Given the description of an element on the screen output the (x, y) to click on. 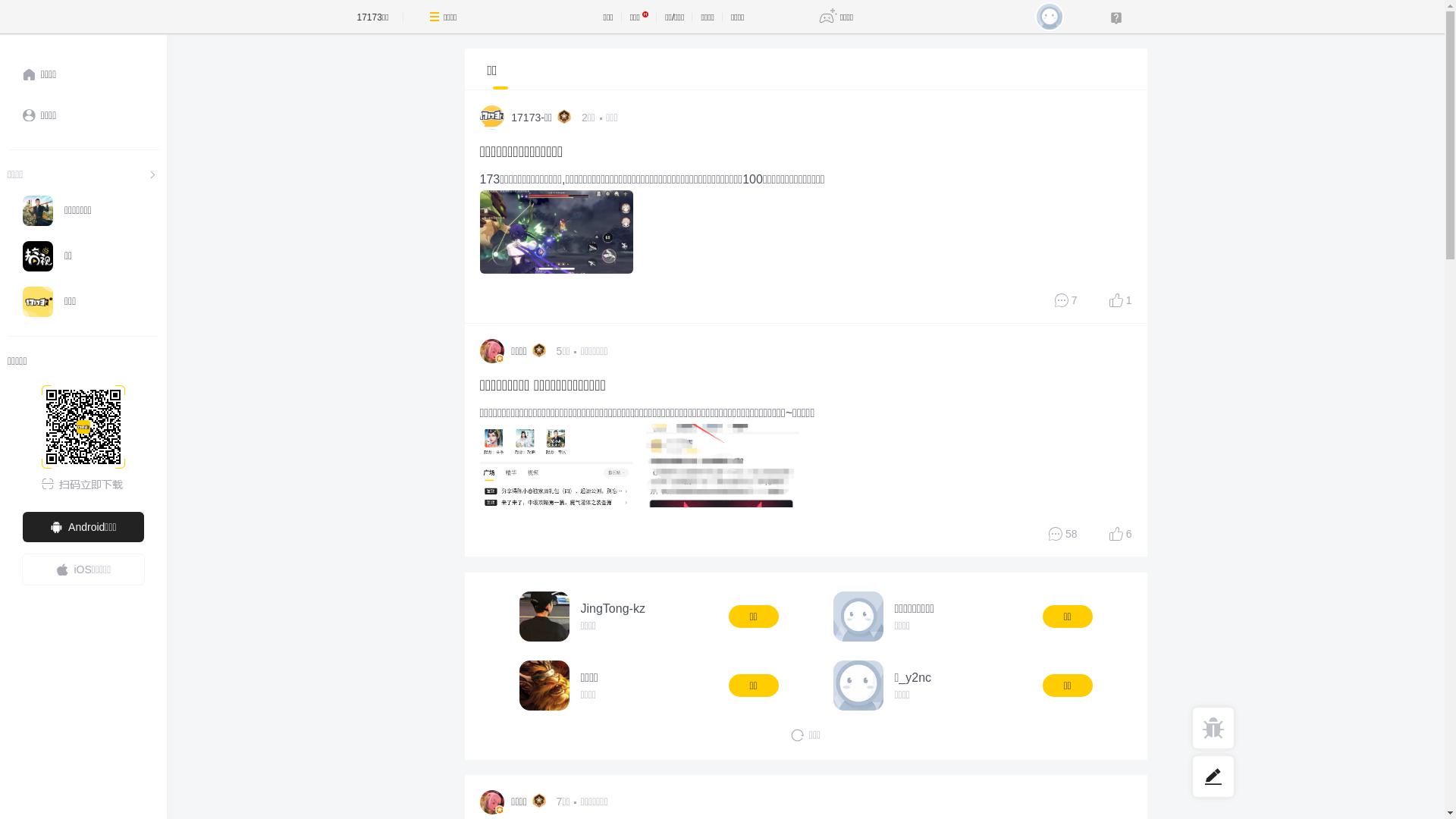
58 Element type: text (1062, 533)
7 Element type: text (1065, 299)
